Given the description of an element on the screen output the (x, y) to click on. 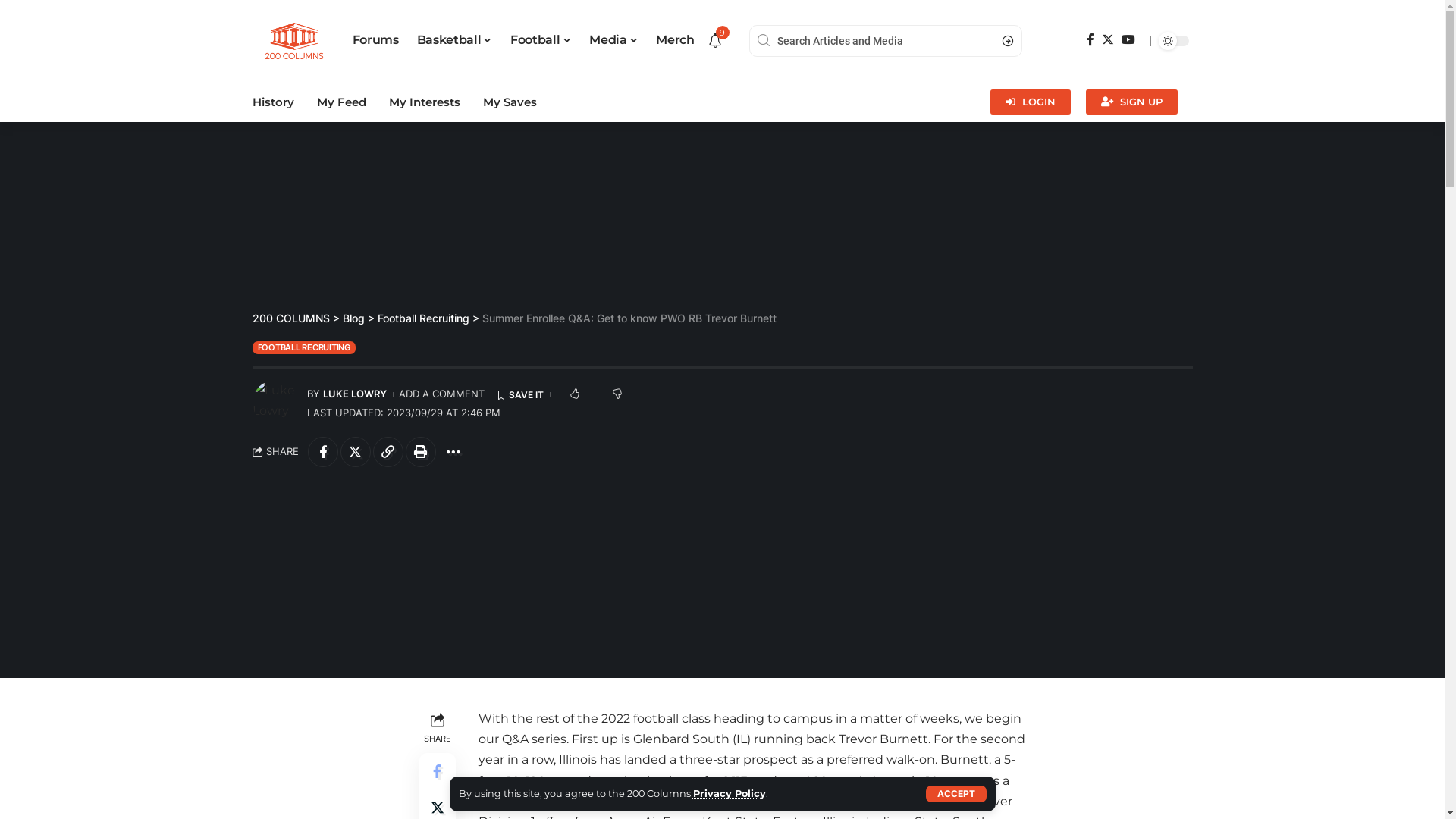
History Element type: text (272, 102)
Privacy Policy Element type: text (729, 793)
Basketball Element type: text (454, 40)
Media Element type: text (613, 40)
My Feed Element type: text (341, 102)
Blog Element type: text (353, 317)
Football Element type: text (540, 40)
SIGN UP Element type: text (1131, 101)
9 Element type: text (714, 40)
Merch Element type: text (674, 40)
LOGIN Element type: text (1030, 101)
Forums Element type: text (374, 40)
Search Element type: text (1002, 40)
FOOTBALL RECRUITING Element type: text (302, 347)
My Saves Element type: text (509, 102)
ACCEPT Element type: text (955, 793)
Football Recruiting Element type: text (423, 317)
LUKE LOWRY Element type: text (354, 393)
200 COLUMNS Element type: text (290, 317)
ADD A COMMENT Element type: text (441, 393)
My Interests Element type: text (423, 102)
